Given the description of an element on the screen output the (x, y) to click on. 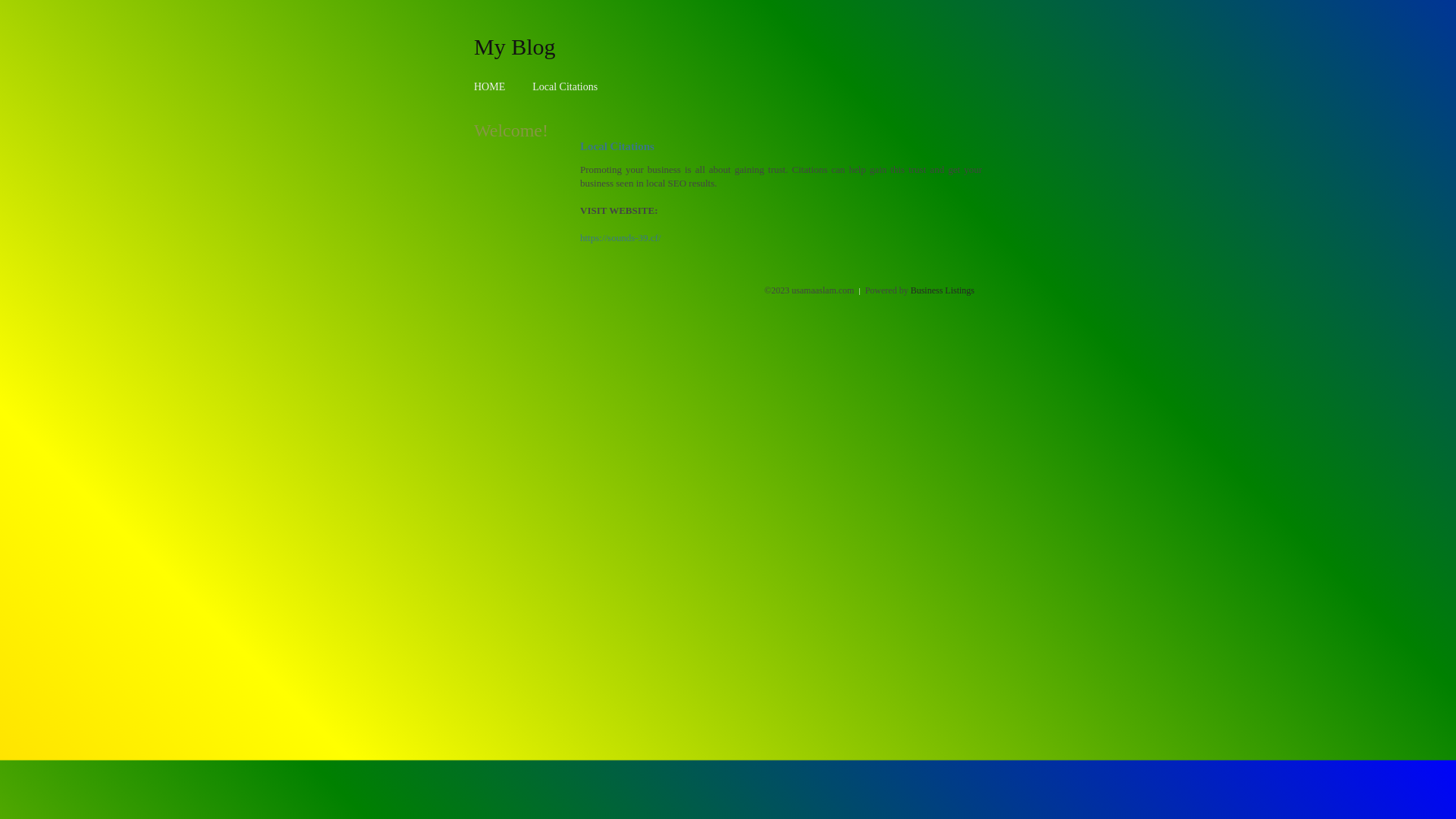
HOME Element type: text (489, 86)
https://sounds-39.cf/ Element type: text (620, 237)
Business Listings Element type: text (942, 290)
Local Citations Element type: text (564, 86)
My Blog Element type: text (514, 46)
